Given the description of an element on the screen output the (x, y) to click on. 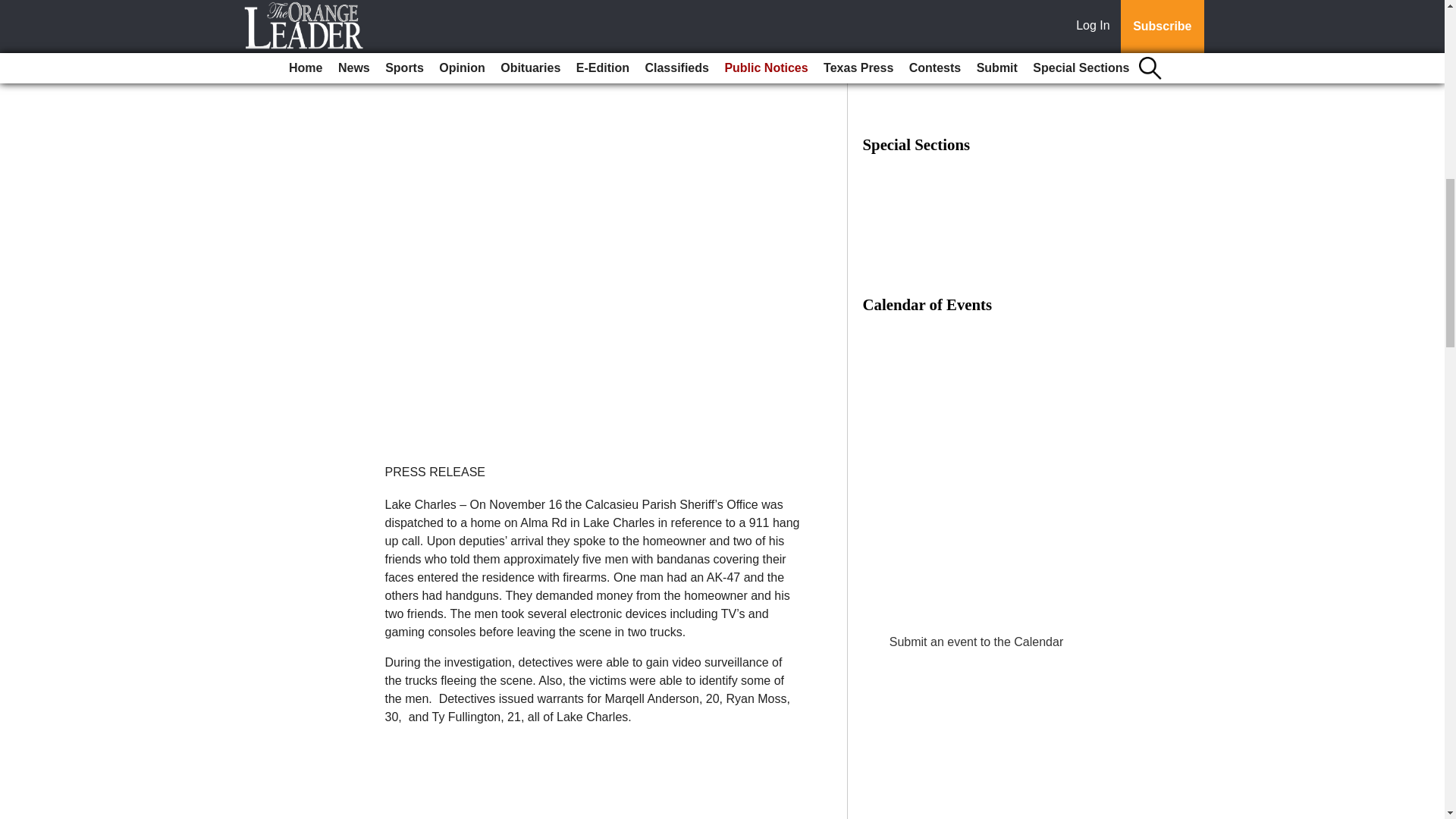
Submit an event to the Calendar (975, 641)
